Given the description of an element on the screen output the (x, y) to click on. 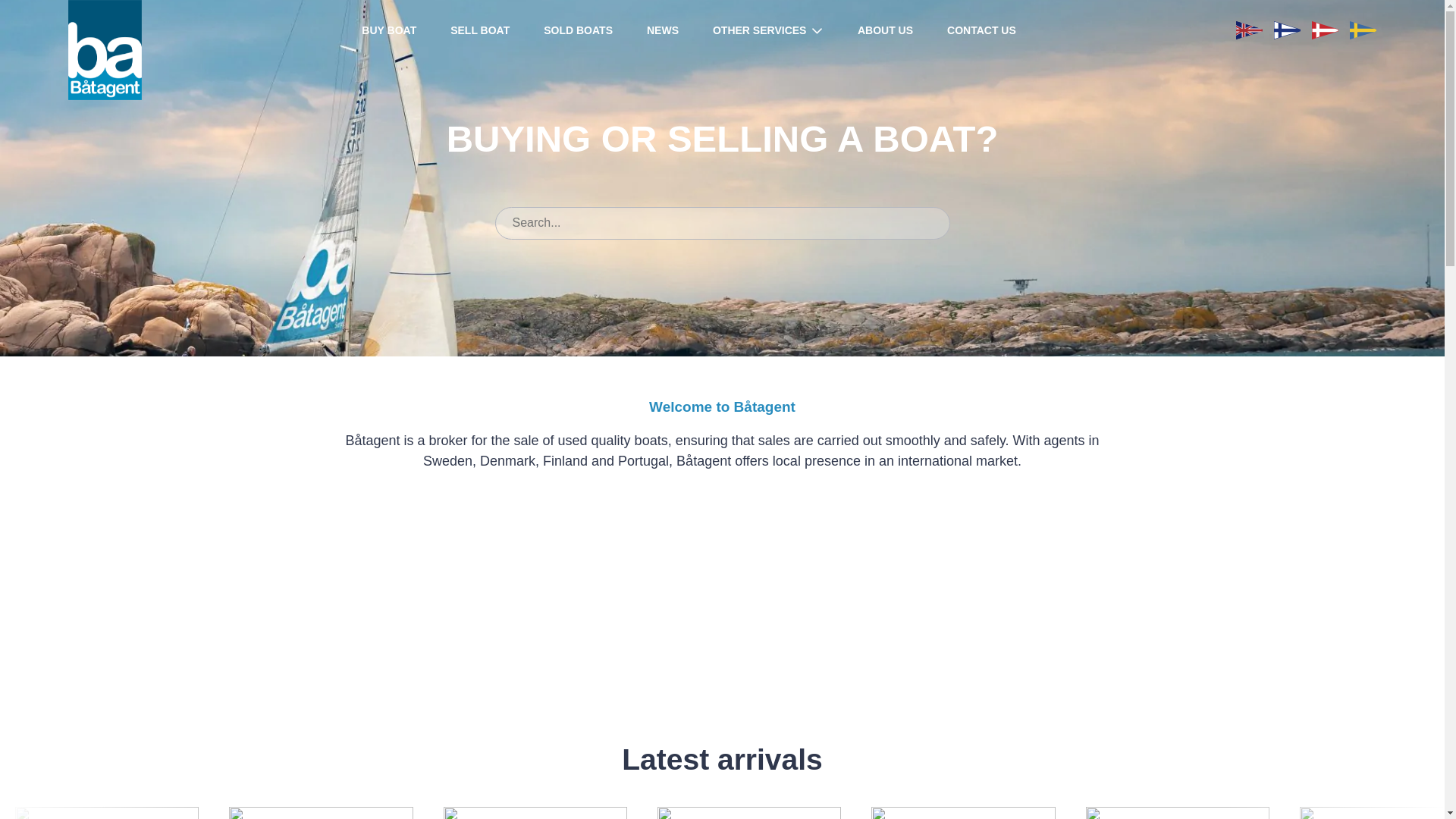
OTHER SERVICES (107, 805)
SELL BOAT (768, 30)
CONTACT US (963, 805)
ABOUT US (1177, 805)
BUY BOAT (479, 30)
SOLD BOATS (981, 30)
